Given the description of an element on the screen output the (x, y) to click on. 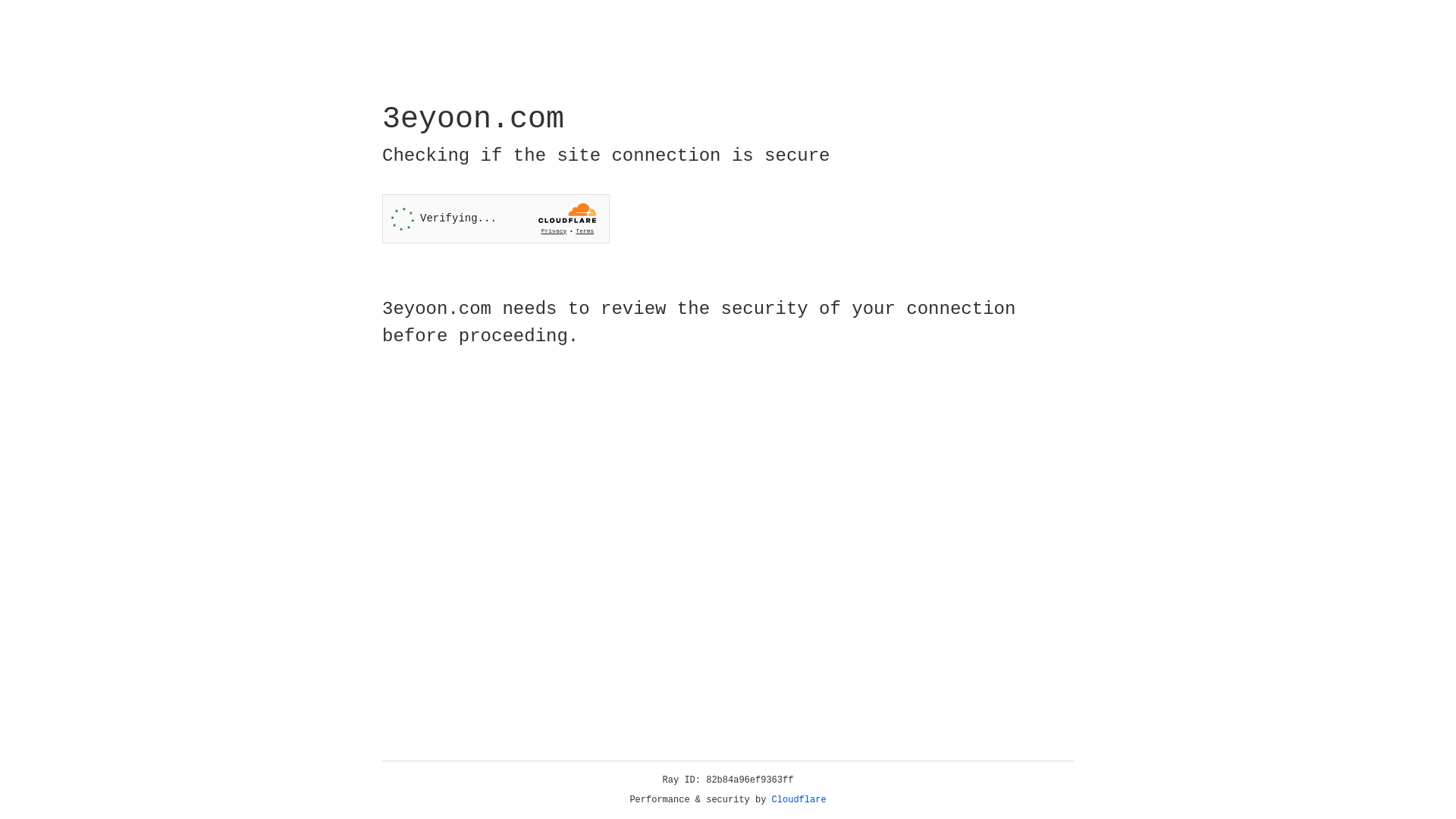
Widget containing a Cloudflare security challenge Element type: hover (495, 218)
Cloudflare Element type: text (798, 799)
